Given the description of an element on the screen output the (x, y) to click on. 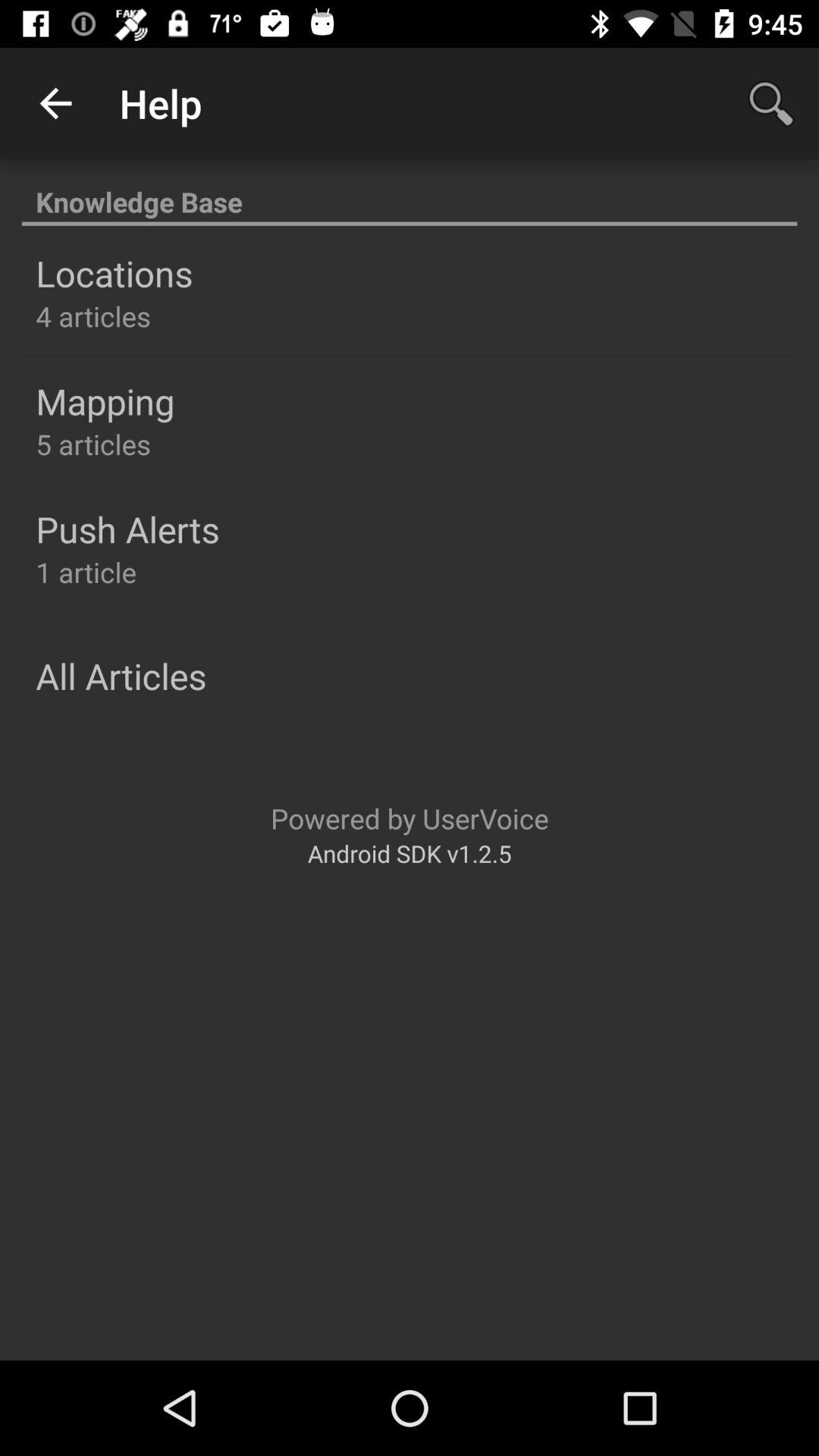
select item below all articles item (409, 818)
